Given the description of an element on the screen output the (x, y) to click on. 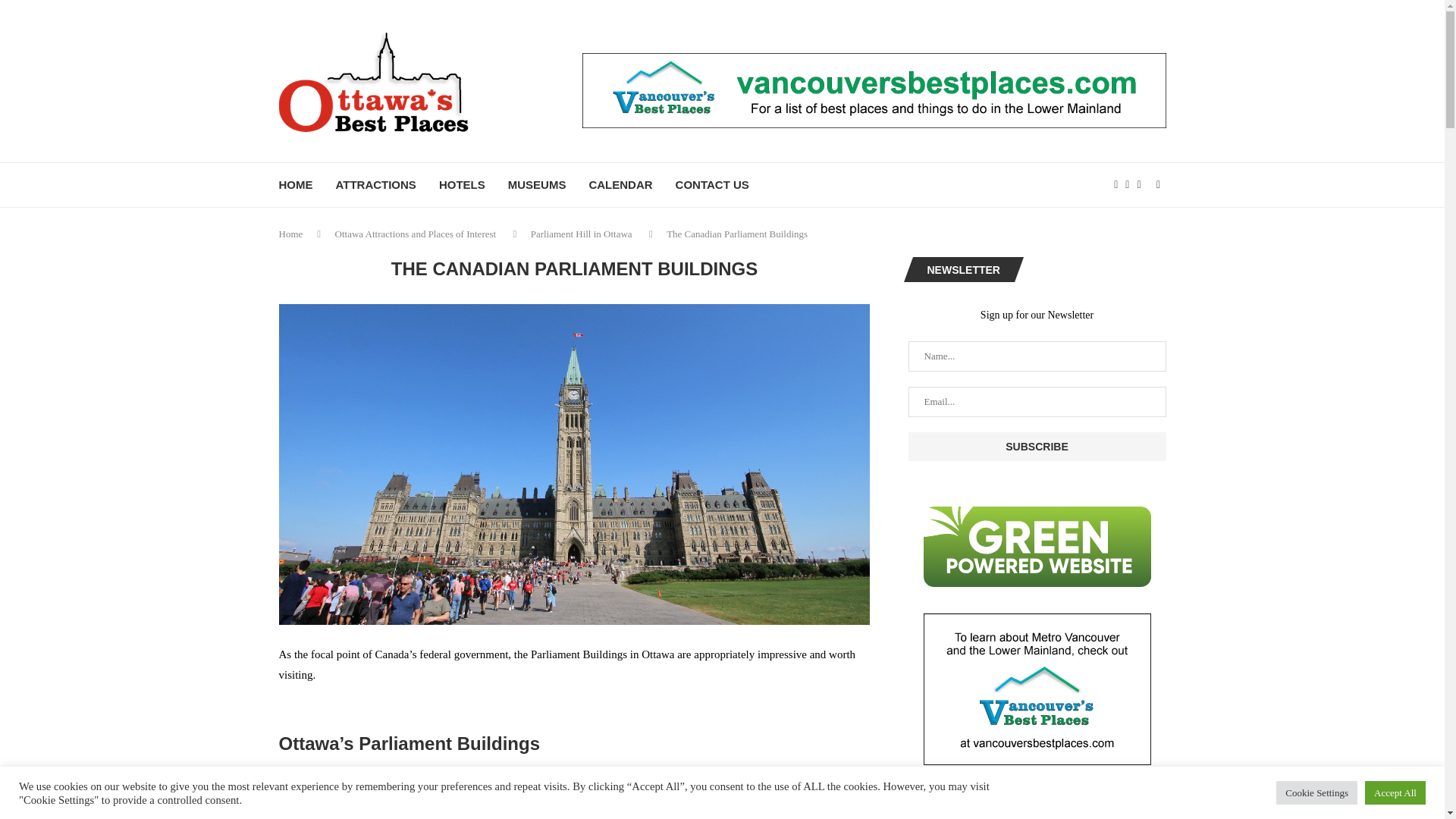
Click for hotel deals at StayVancouverHotels.com (1037, 805)
ATTRACTIONS (374, 184)
CALENDAR (620, 184)
HOTELS (461, 184)
Subscribe (1037, 446)
Click for the website vancouversbestplaces.com (874, 80)
MUSEUMS (537, 184)
Subscribe (1037, 446)
Click for the website vancouversbestplaces.com (1037, 688)
Parliament Hill in Ottawa (581, 233)
Home (290, 233)
Ottawa Attractions and Places of Interest (415, 233)
CONTACT US (712, 184)
